Given the description of an element on the screen output the (x, y) to click on. 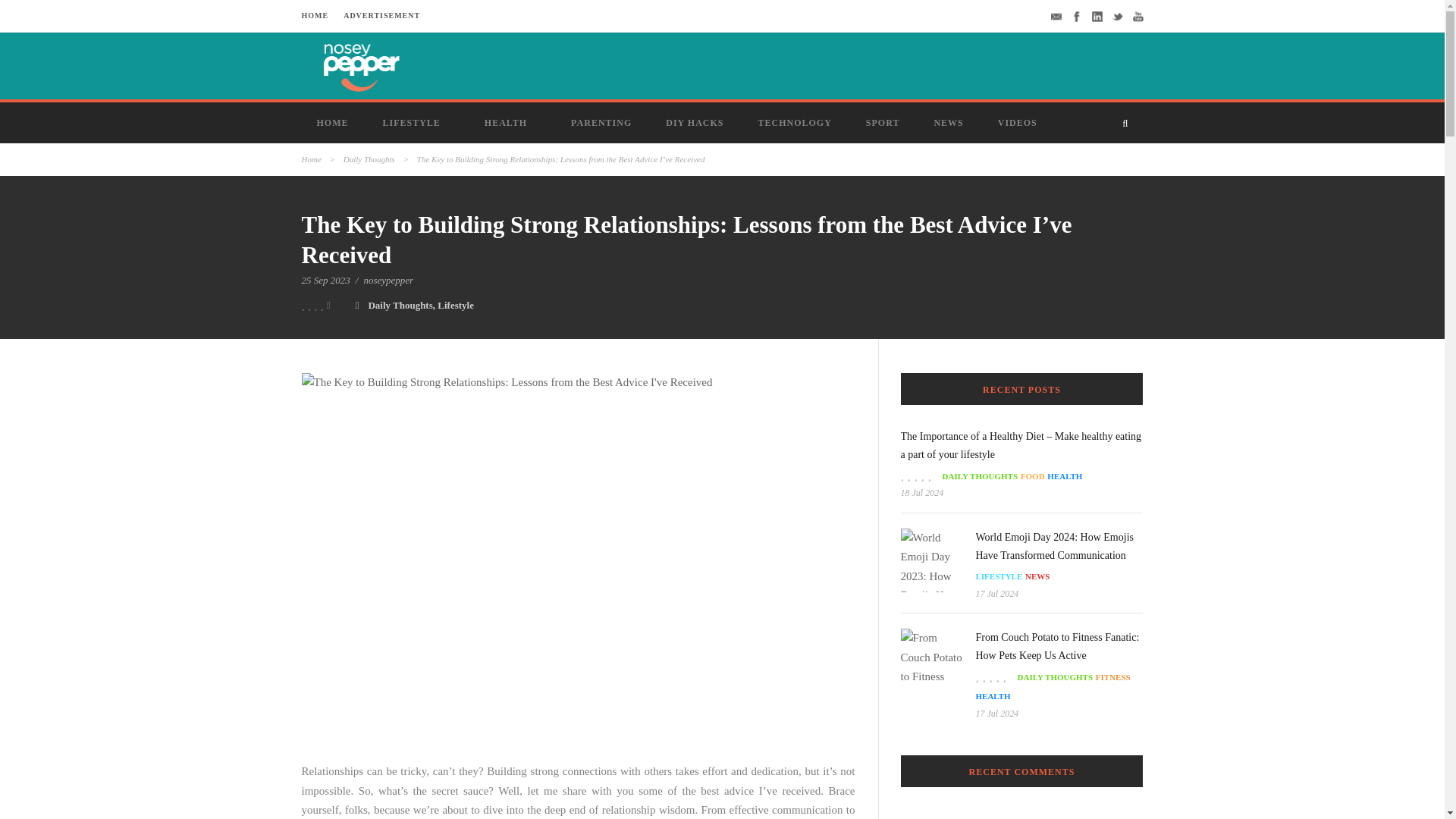
HEALTH (512, 122)
HOME (315, 15)
ADVERTISEMENT (381, 15)
LIFESTYLE (417, 122)
Posts by noseypepper (387, 279)
HOME (334, 122)
